Given the description of an element on the screen output the (x, y) to click on. 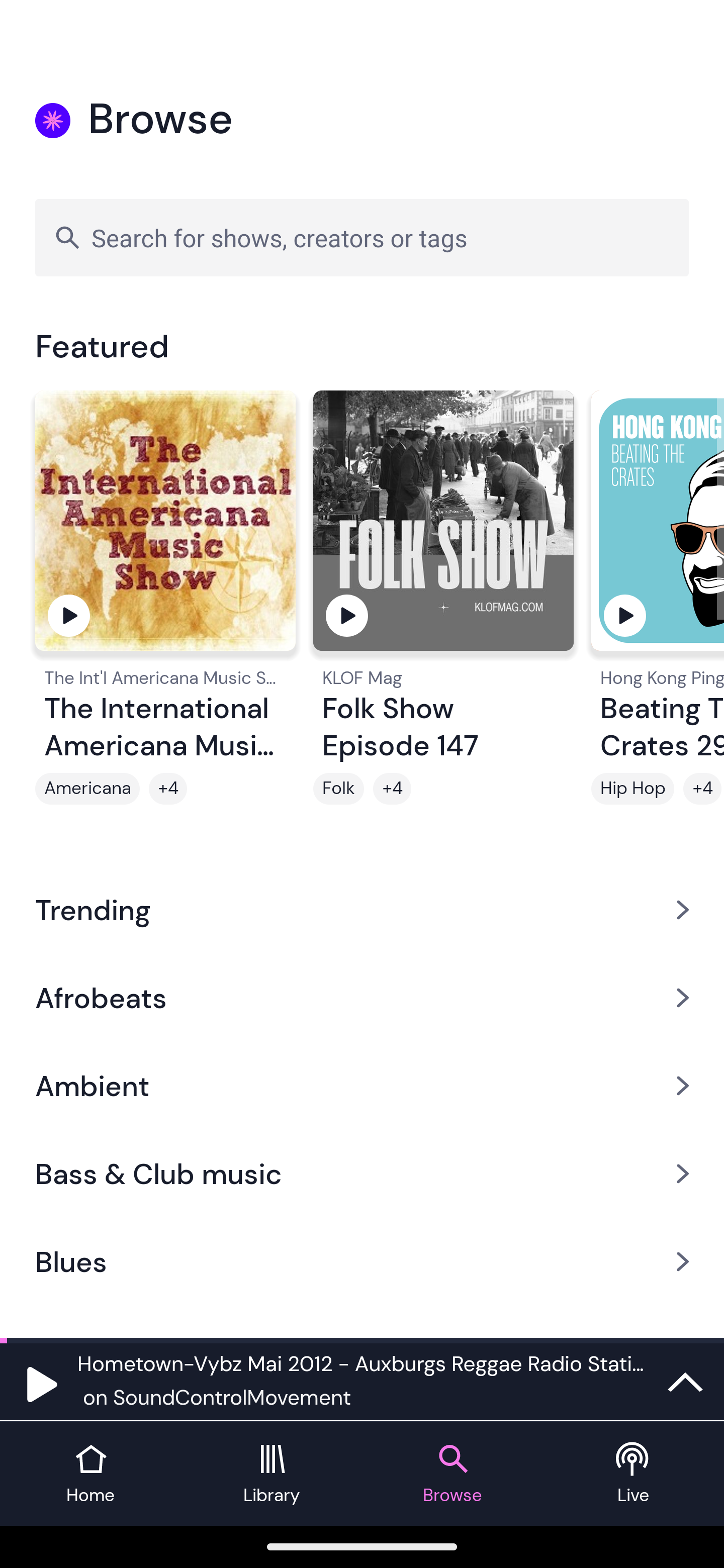
Search for shows, creators or tags (361, 237)
Americana (87, 788)
Folk (338, 788)
Hip Hop (632, 788)
Trending (361, 909)
Afrobeats (361, 997)
Ambient (361, 1085)
Bass & Club music (361, 1174)
Blues (361, 1262)
Home tab Home (90, 1473)
Library tab Library (271, 1473)
Browse tab Browse (452, 1473)
Live tab Live (633, 1473)
